Given the description of an element on the screen output the (x, y) to click on. 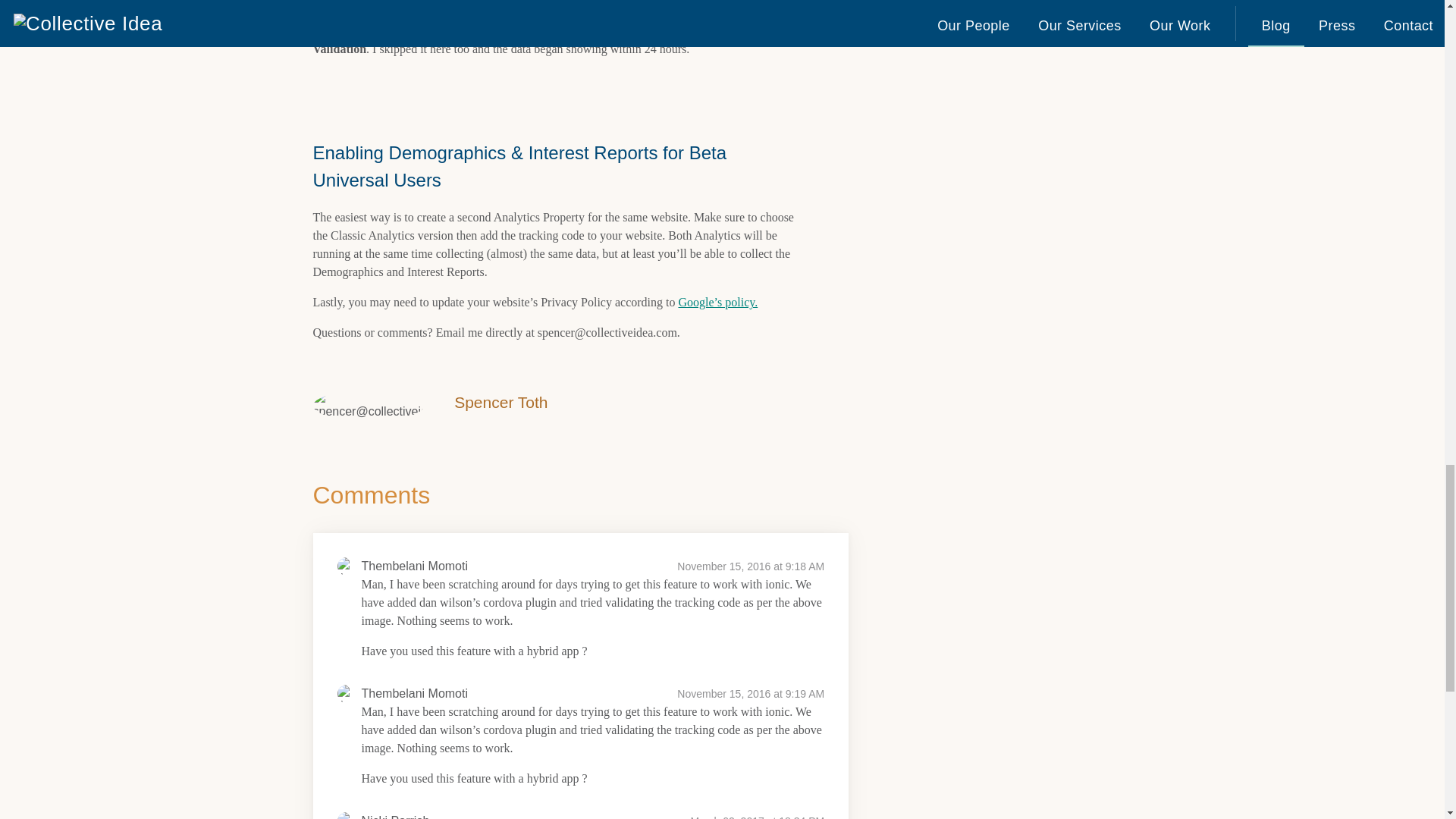
Nicki Parrish (395, 815)
